Given the description of an element on the screen output the (x, y) to click on. 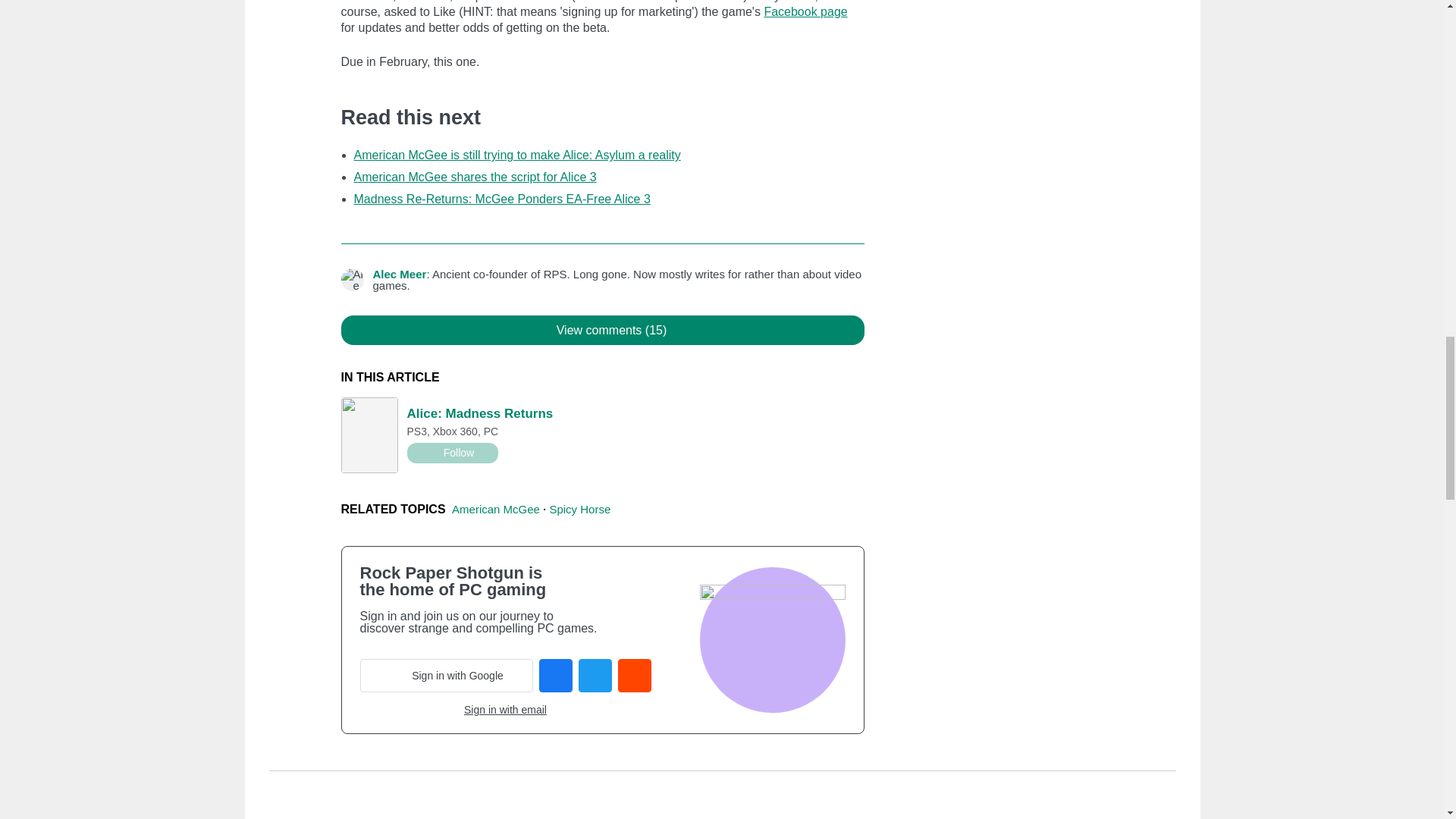
Facebook page (804, 11)
American McGee shares the script for Alice 3 (474, 176)
